Given the description of an element on the screen output the (x, y) to click on. 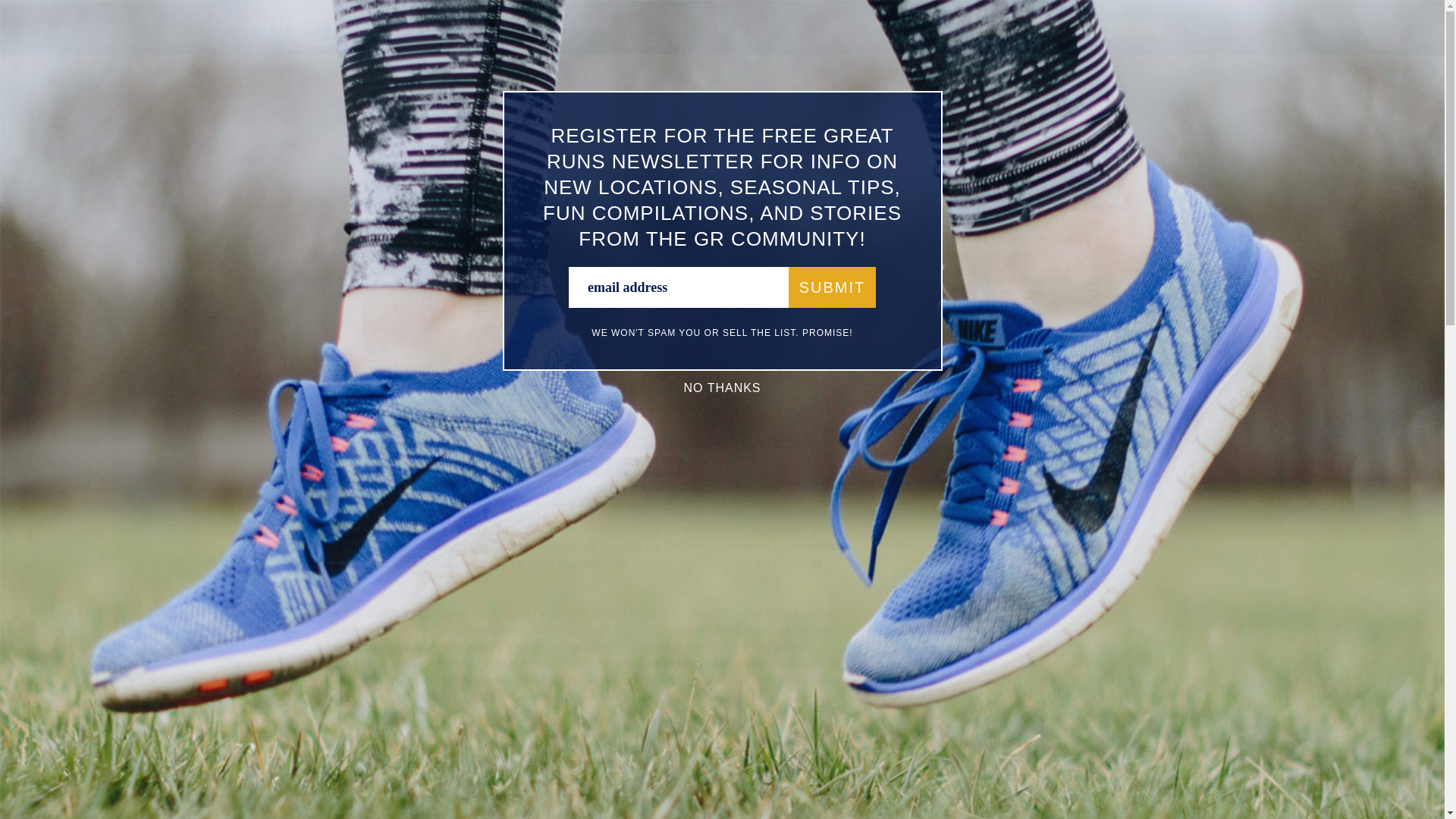
ABOUT (412, 25)
Submit (832, 286)
Great Runs (319, 41)
Submit (832, 286)
LOCATIONS (494, 25)
